Given the description of an element on the screen output the (x, y) to click on. 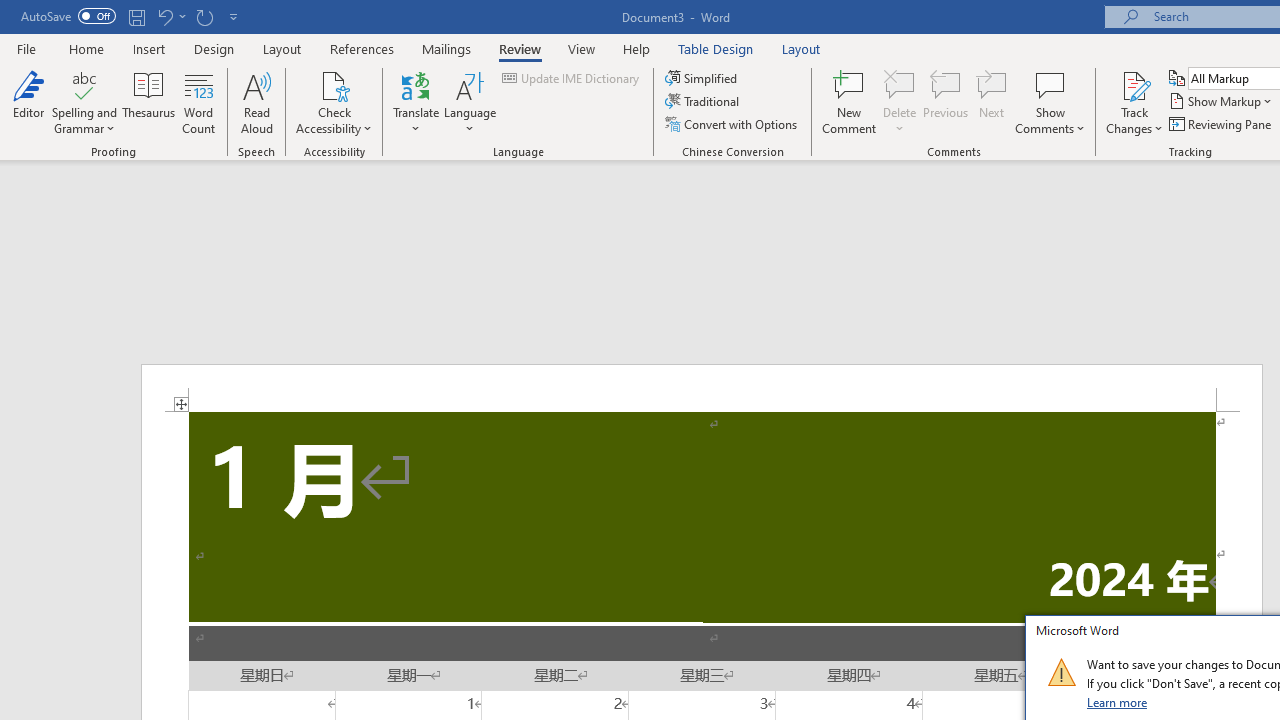
Check Accessibility (334, 84)
Check Accessibility (334, 102)
Simplified (702, 78)
Show Comments (1050, 102)
Repeat Doc Close (204, 15)
